Given the description of an element on the screen output the (x, y) to click on. 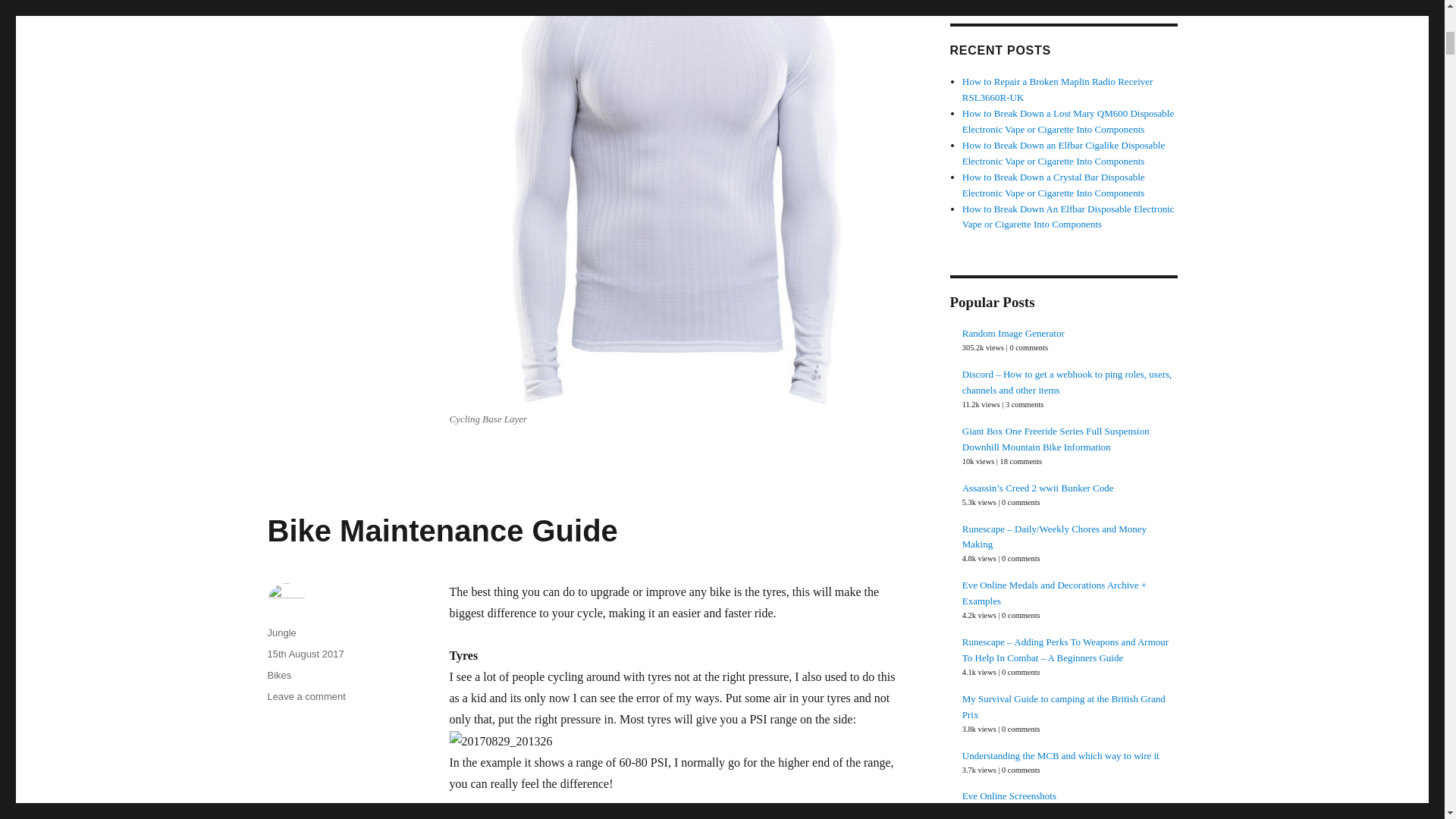
Bikes (278, 674)
15th August 2017 (304, 654)
Jungle (280, 632)
Bike Maintenance Guide (441, 530)
